Given the description of an element on the screen output the (x, y) to click on. 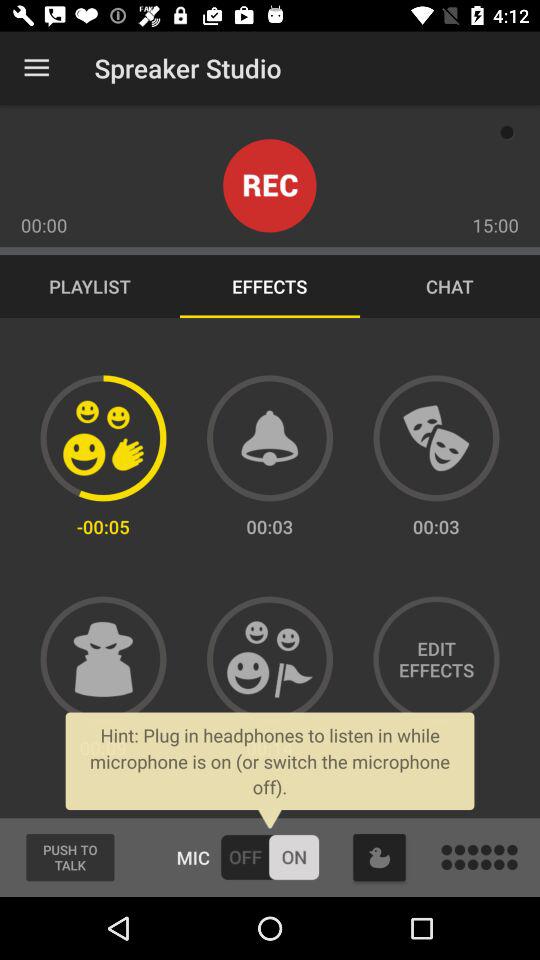
record (269, 185)
